Given the description of an element on the screen output the (x, y) to click on. 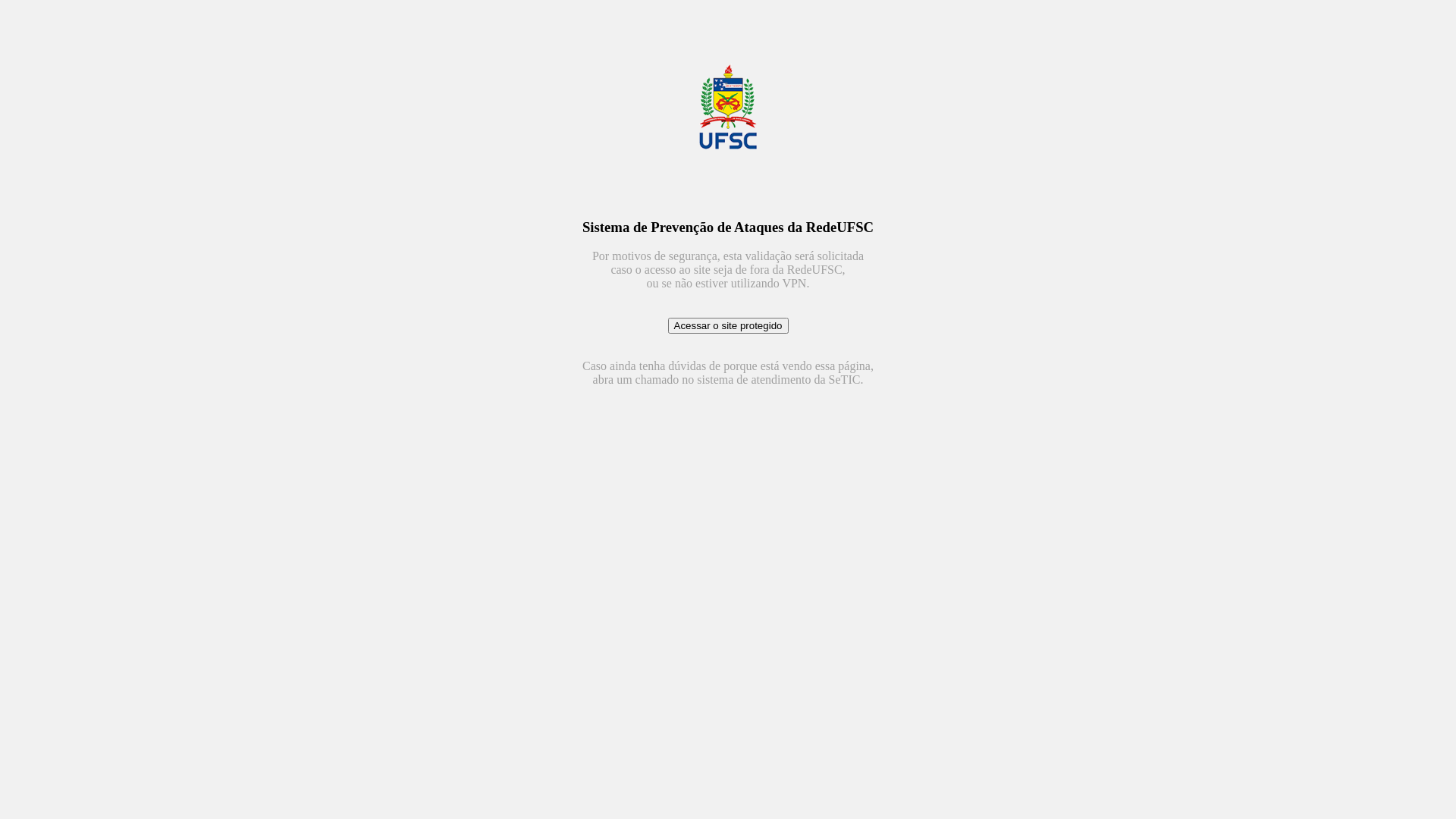
Acessar o site protegido Element type: text (727, 325)
